Given the description of an element on the screen output the (x, y) to click on. 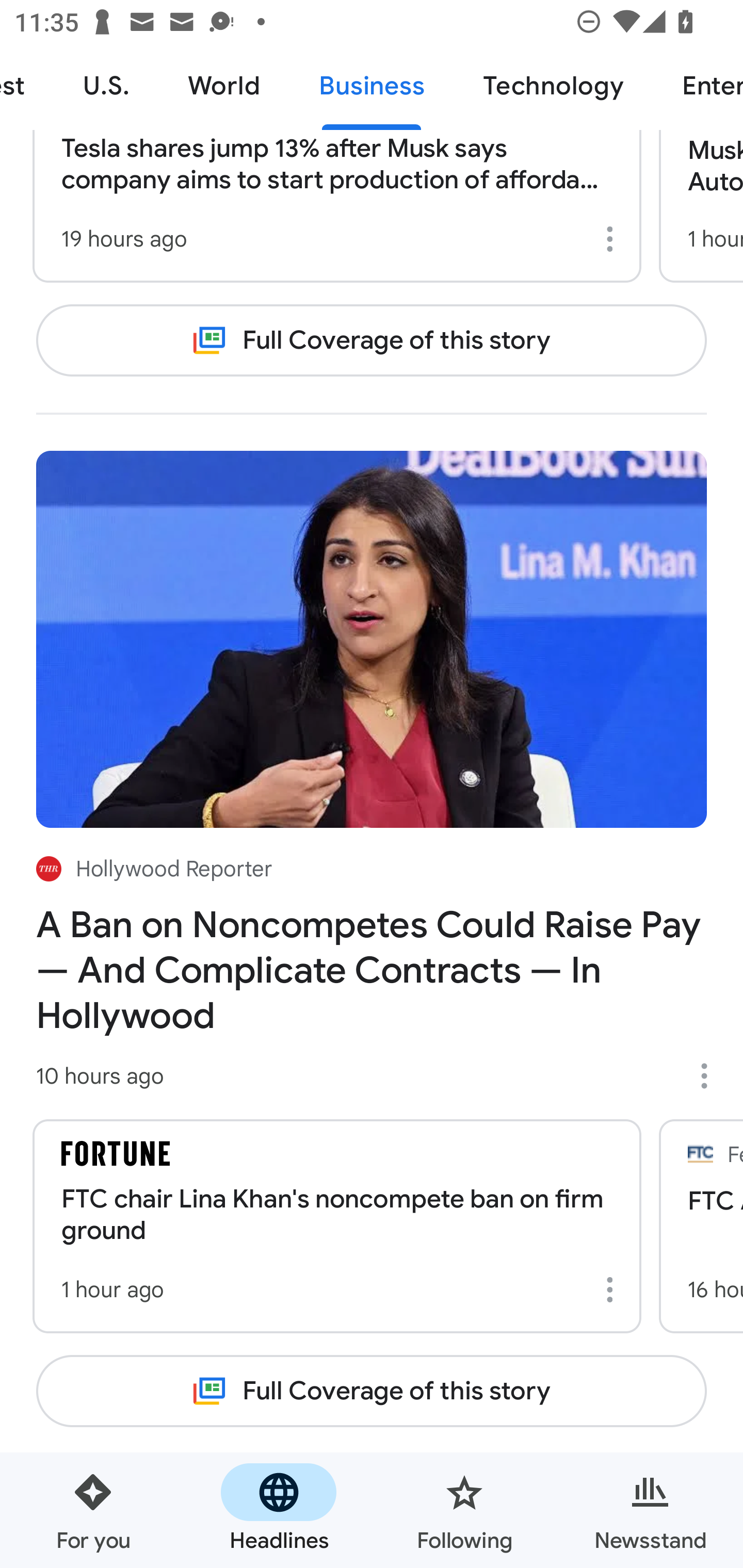
U.S. (106, 86)
World (224, 86)
Technology (552, 86)
Entertainment (697, 86)
More options (613, 238)
Full Coverage of this story (371, 340)
More options (711, 1075)
More options (613, 1289)
Full Coverage of this story (371, 1390)
For you (92, 1509)
Headlines (278, 1509)
Following (464, 1509)
Newsstand (650, 1509)
